Given the description of an element on the screen output the (x, y) to click on. 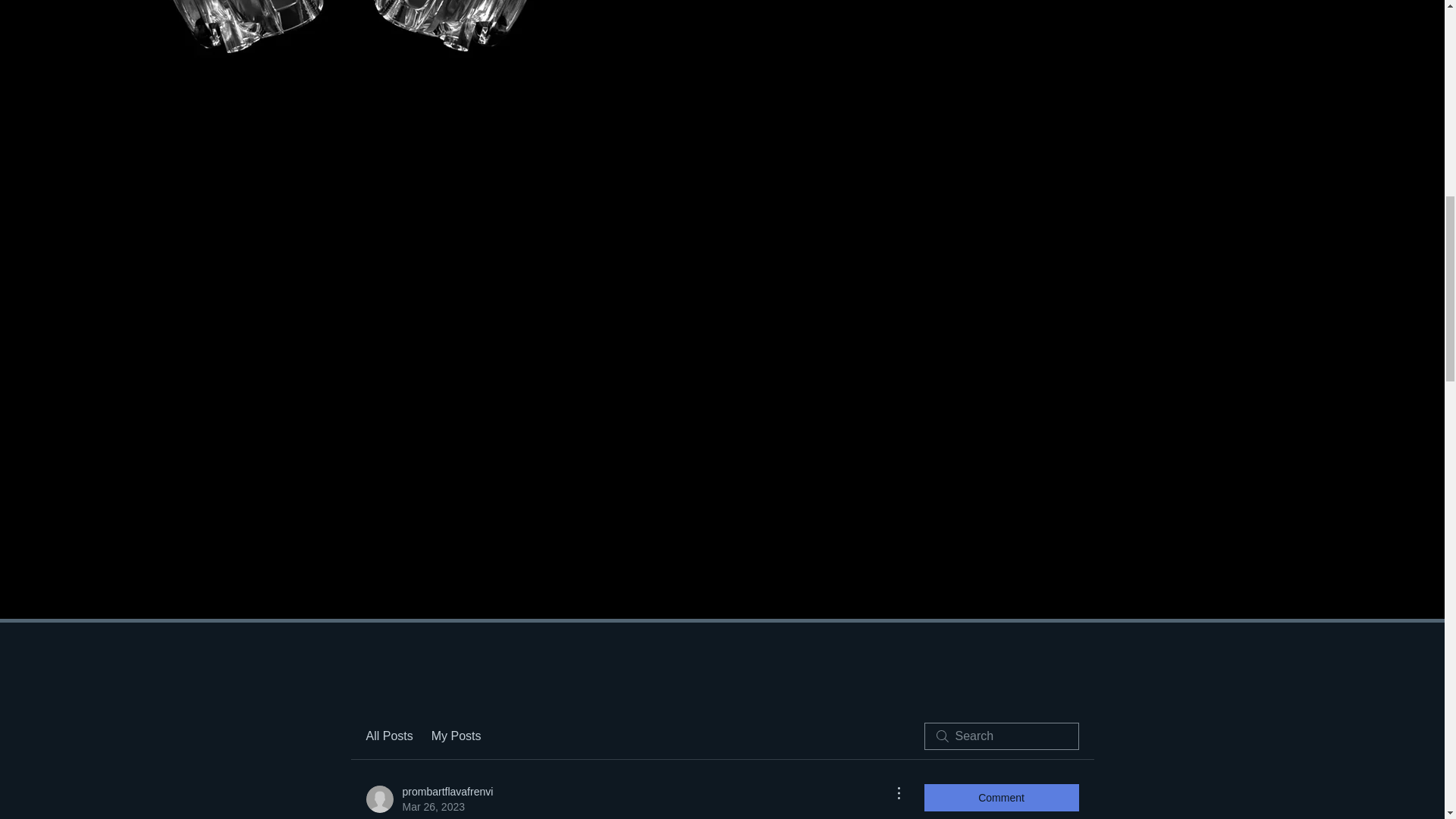
Comment (1000, 797)
My Posts (455, 736)
All Posts (429, 798)
